Given the description of an element on the screen output the (x, y) to click on. 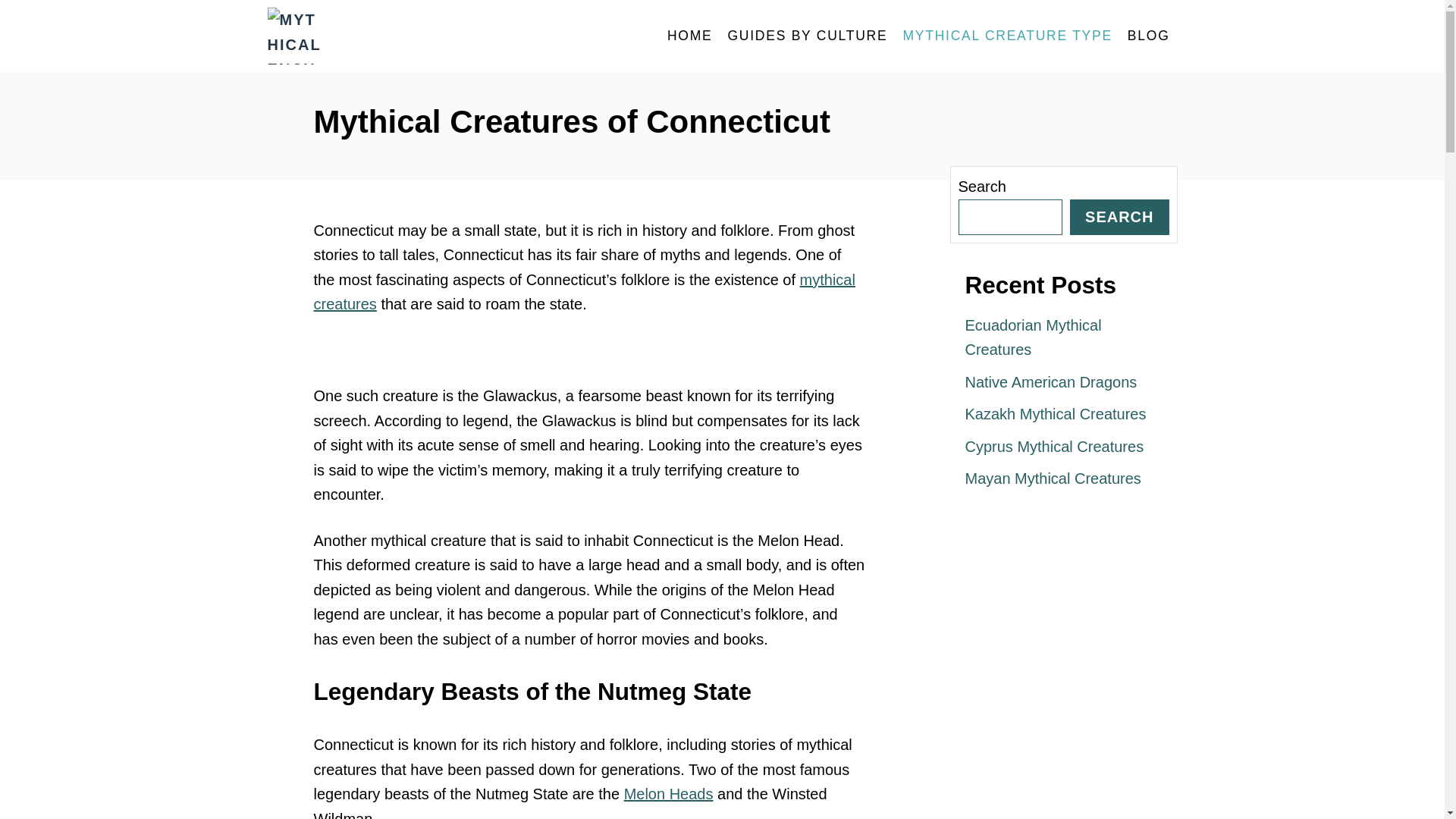
MYTHICAL CREATURE TYPE (1007, 36)
Mythical Encyclopedia (403, 36)
HOME (689, 36)
GUIDES BY CULTURE (807, 36)
